Given the description of an element on the screen output the (x, y) to click on. 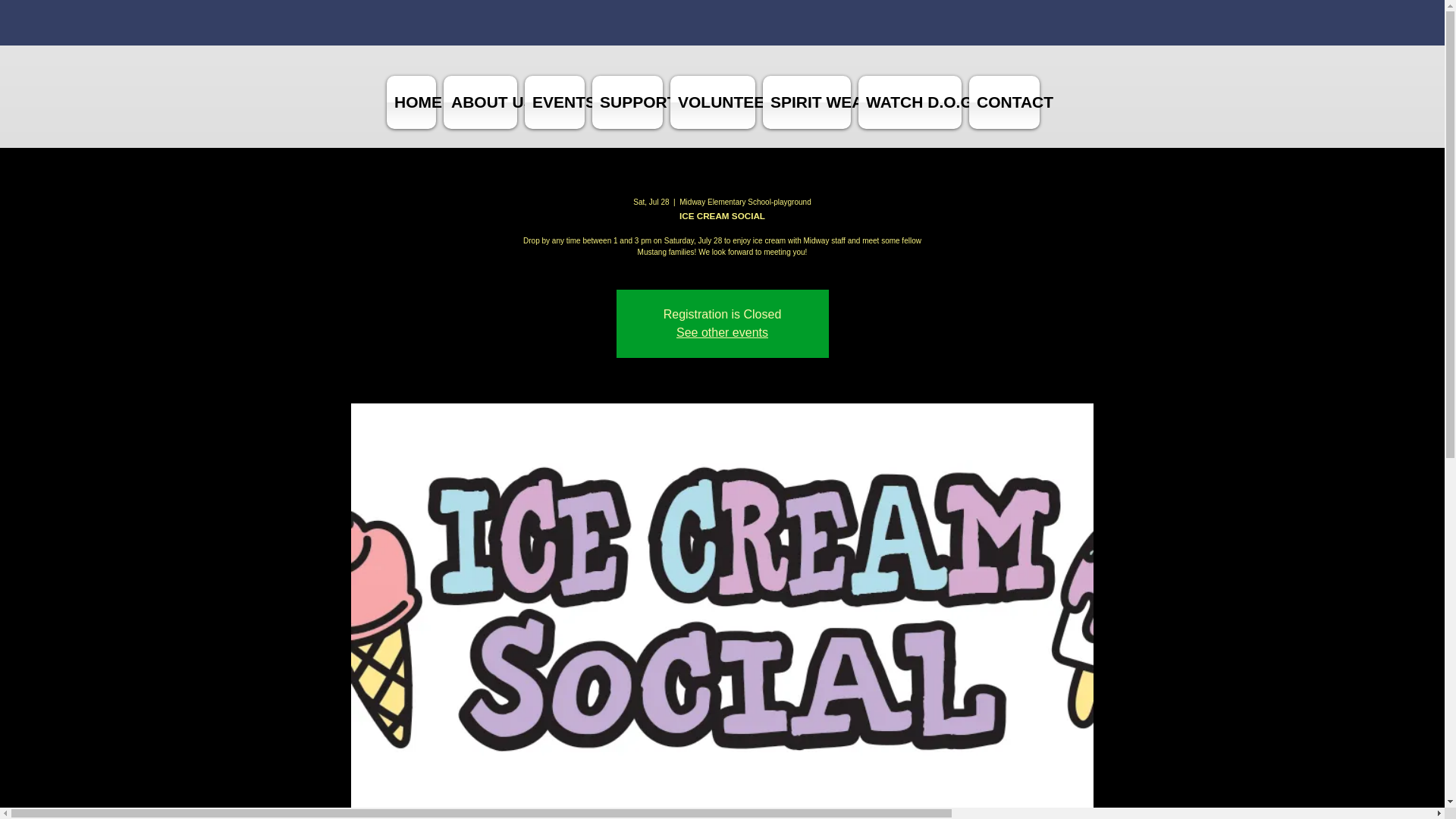
HOME (410, 102)
See other events (722, 332)
